Given the description of an element on the screen output the (x, y) to click on. 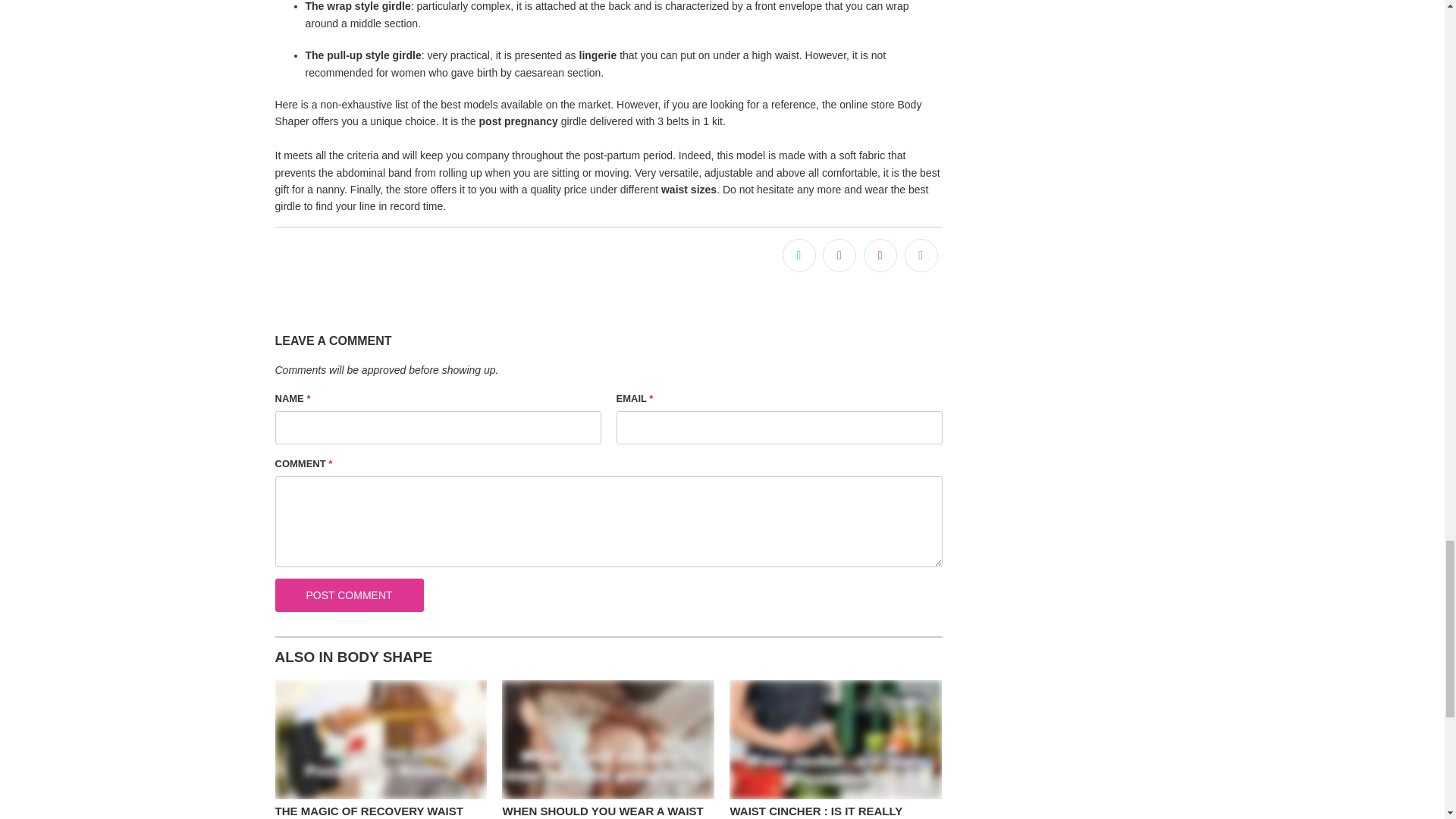
Post comment (349, 594)
The Magic of Recovery Waist Belts (369, 811)
Email this to a friend (920, 255)
The Magic of Recovery Waist Belts (380, 739)
Share this on Pinterest (879, 255)
Share this on Facebook (839, 255)
Share this on Twitter (799, 255)
